Given the description of an element on the screen output the (x, y) to click on. 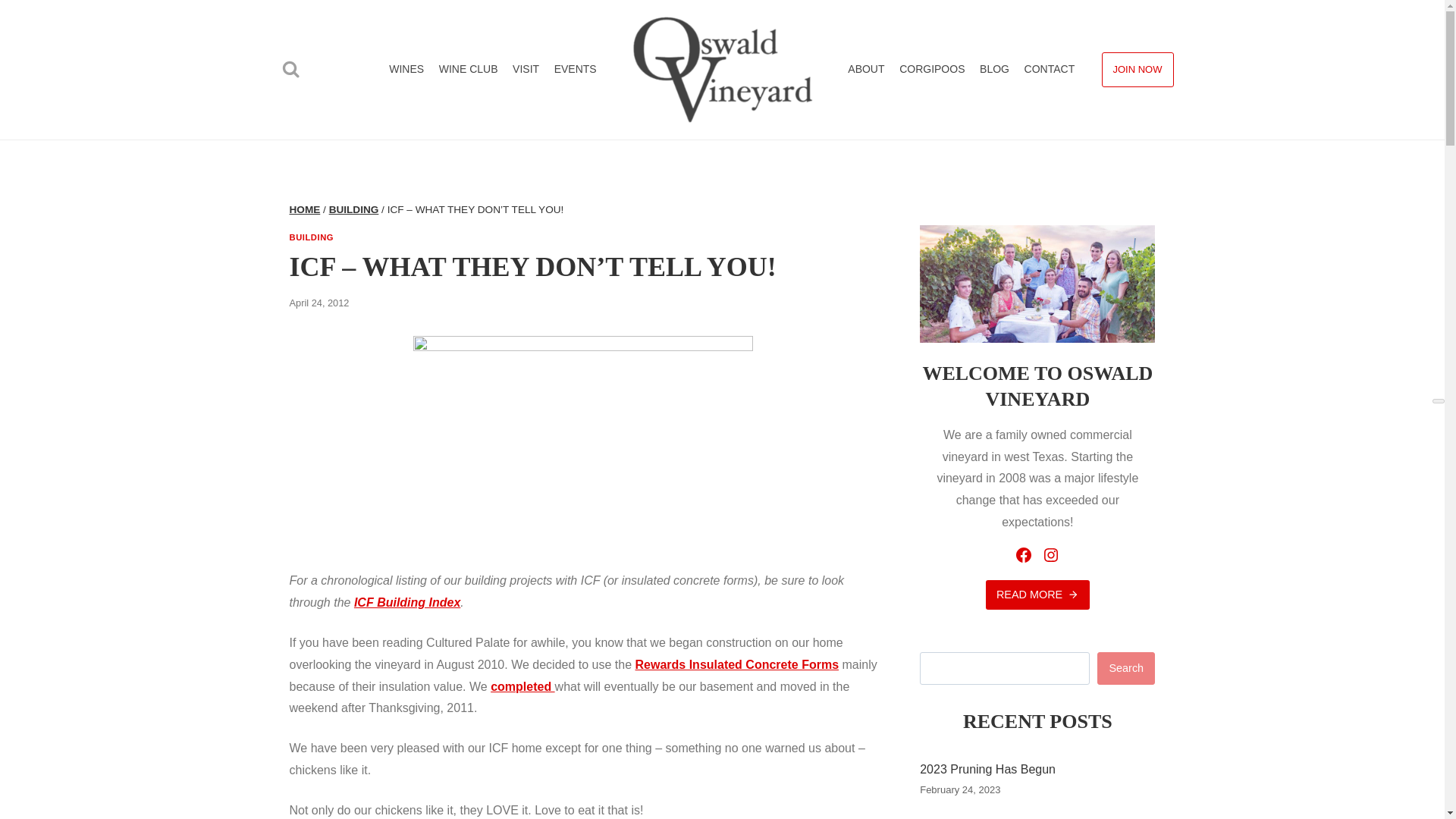
EVENTS (575, 69)
WINES (405, 69)
Rewards Insulated Concrete Forms (737, 664)
CONTACT (1048, 69)
WINE CLUB (467, 69)
JOIN NOW (1136, 69)
VISIT (526, 69)
completed (522, 686)
ICF Building Index (406, 602)
BLOG (994, 69)
